Given the description of an element on the screen output the (x, y) to click on. 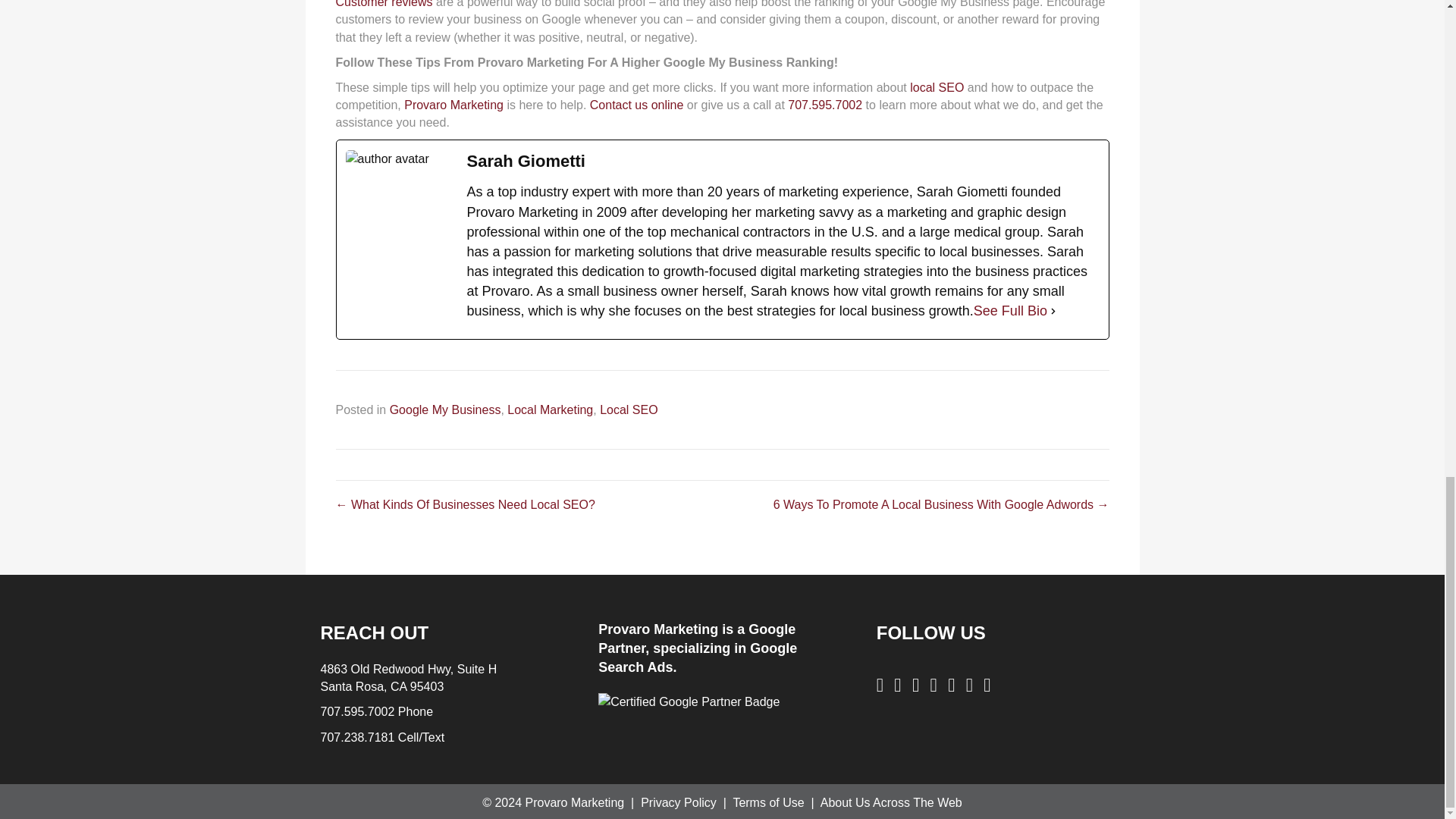
See Full Bio (1010, 311)
Contact us online (636, 104)
Local Marketing (549, 409)
local SEO (936, 87)
707.595.7002 (824, 104)
Google My Business (445, 409)
Customer reviews (383, 4)
Provaro Marketing (453, 104)
